Given the description of an element on the screen output the (x, y) to click on. 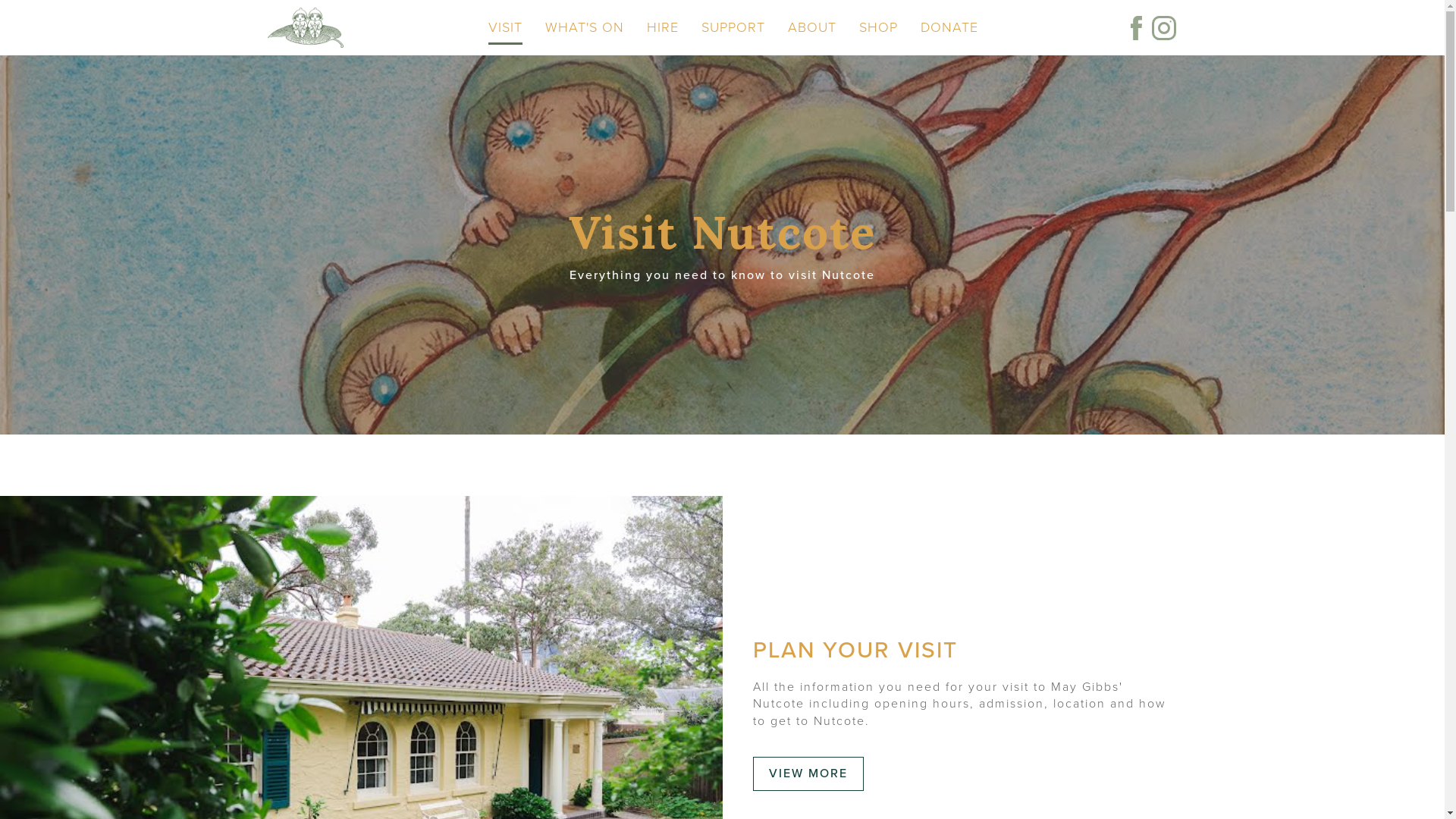
Find us on Facebook Element type: hover (1136, 27)
HIRE Element type: text (662, 27)
Home Element type: hover (304, 27)
ABOUT Element type: text (811, 27)
VISIT Element type: text (504, 27)
WHAT'S ON Element type: text (584, 27)
See us on Instagram Element type: hover (1163, 27)
DONATE Element type: text (948, 27)
SUPPORT Element type: text (733, 27)
SHOP Element type: text (878, 27)
